Given the description of an element on the screen output the (x, y) to click on. 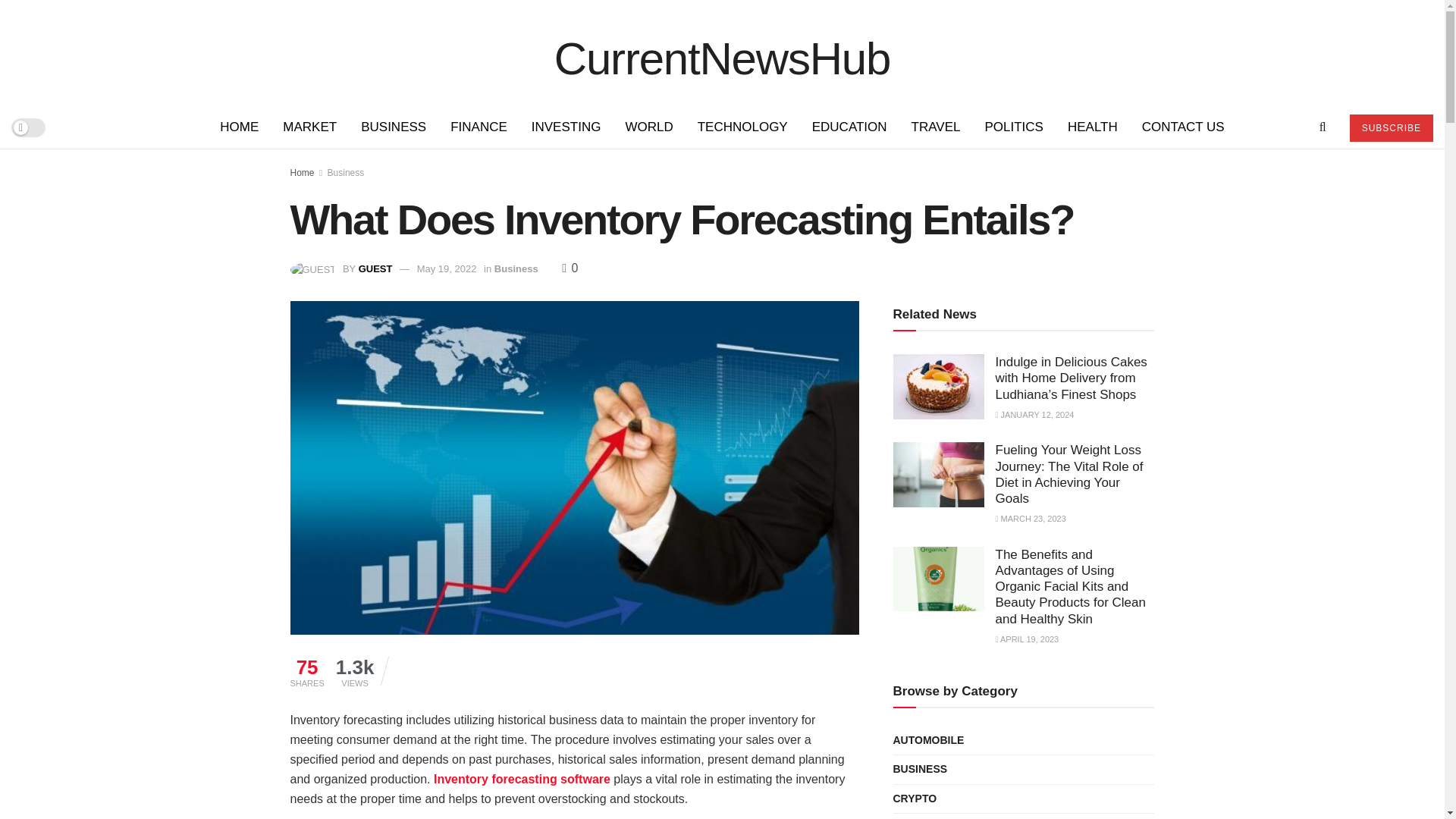
HEALTH (1092, 127)
MARKET (309, 127)
WORLD (648, 127)
GUEST (375, 268)
Home (301, 172)
Business (516, 268)
CurrentNewsHub (721, 52)
HOME (239, 127)
TECHNOLOGY (742, 127)
TRAVEL (935, 127)
